Given the description of an element on the screen output the (x, y) to click on. 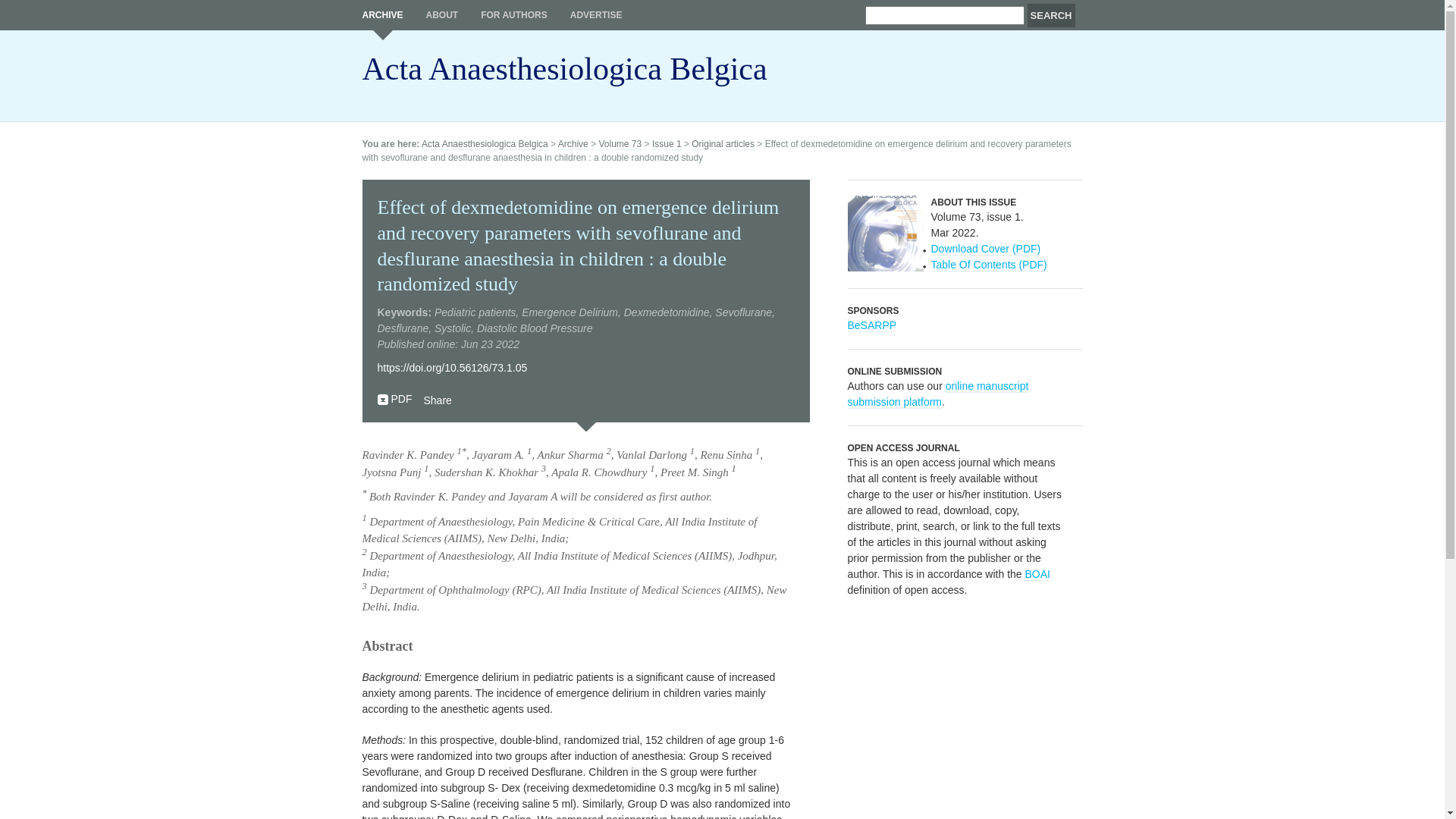
BeSARPP Element type: text (872, 325)
FOR AUTHORS Element type: text (513, 15)
Table Of Contents (PDF) Element type: text (989, 264)
Archive Element type: text (573, 144)
PDF Element type: text (401, 398)
Volume 73 Element type: text (619, 144)
ADVERTISE Element type: text (596, 15)
Acta Anaesthesiologica Belgica Element type: text (564, 75)
Original articles Element type: text (722, 144)
ARCHIVE Element type: text (382, 20)
Download Cover (PDF) Element type: text (986, 248)
Issue 1 Element type: text (666, 144)
Search Element type: text (1051, 15)
Share Element type: text (437, 400)
ABOUT Element type: text (442, 15)
online manuscript submission platform Element type: text (938, 393)
https://doi.org/10.56126/73.1.05 Element type: text (452, 367)
BOAI Element type: text (1036, 573)
Acta Anaesthesiologica Belgica Element type: text (484, 144)
